Given the description of an element on the screen output the (x, y) to click on. 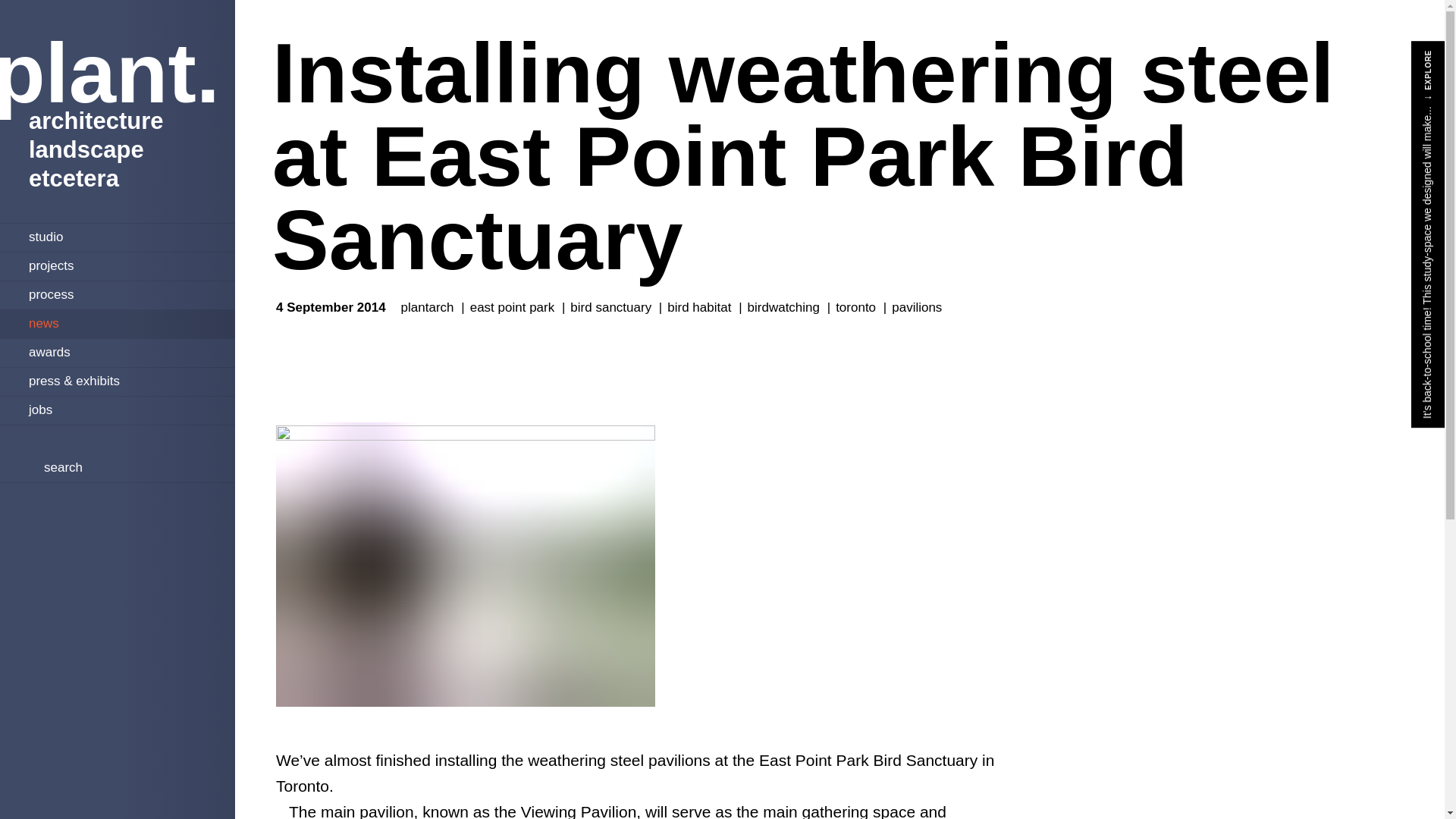
process (117, 293)
studio (117, 235)
landscape (117, 150)
jobs (117, 408)
bird habitat (703, 307)
news (117, 322)
bird sanctuary (616, 307)
news (28, 639)
projects (117, 264)
home (71, 685)
east point park (518, 307)
awards (117, 351)
pavilions (916, 307)
birdwatching (789, 307)
